Given the description of an element on the screen output the (x, y) to click on. 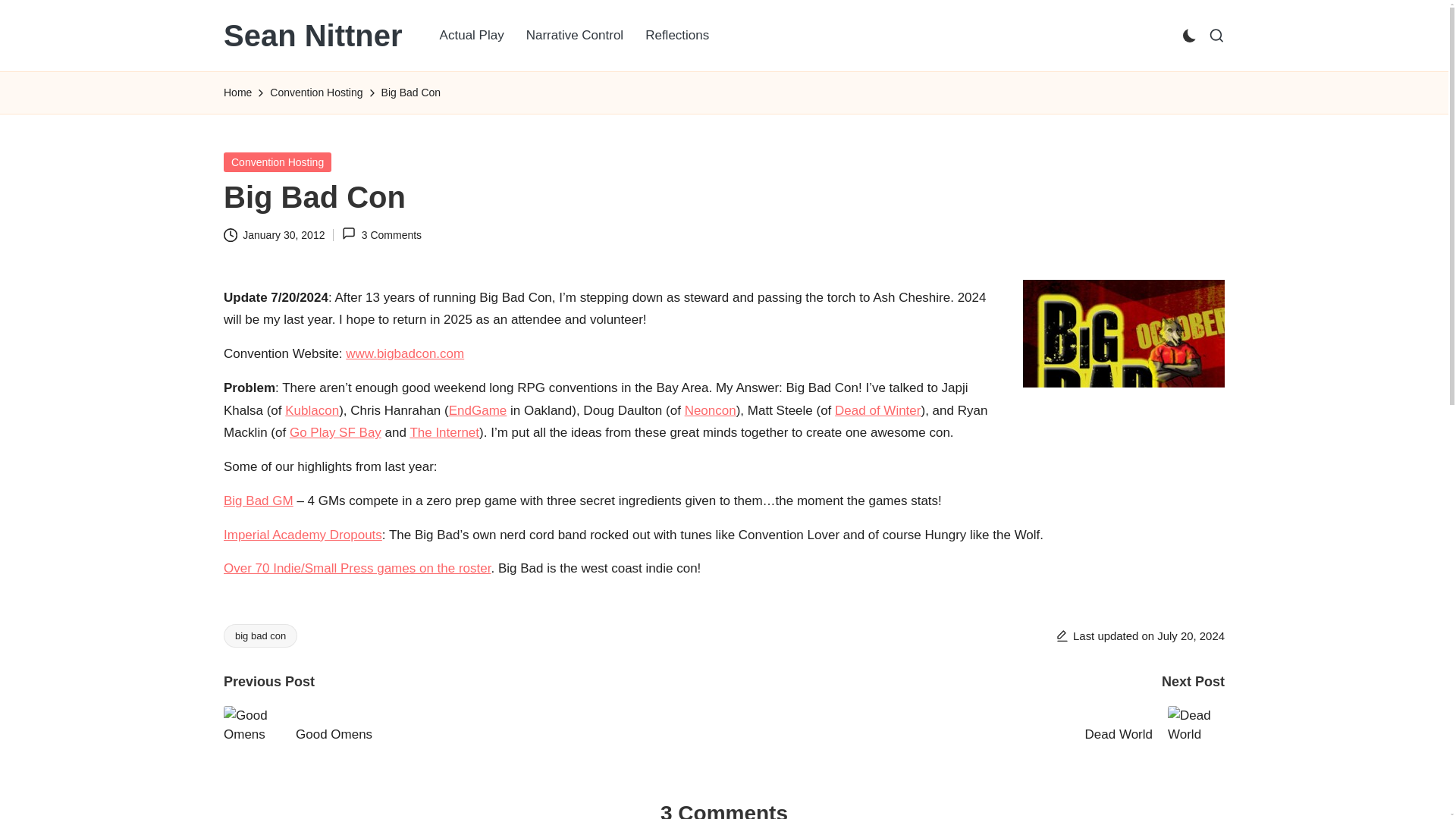
The Internet (444, 432)
Narrative Control (574, 35)
Home (237, 92)
Big Bad GM (259, 500)
Convention Hosting (315, 92)
Dead of Winter (877, 410)
www.bigbadcon.com (405, 353)
Actual Play (472, 35)
big bad con (260, 635)
Convention Hosting (277, 161)
